Given the description of an element on the screen output the (x, y) to click on. 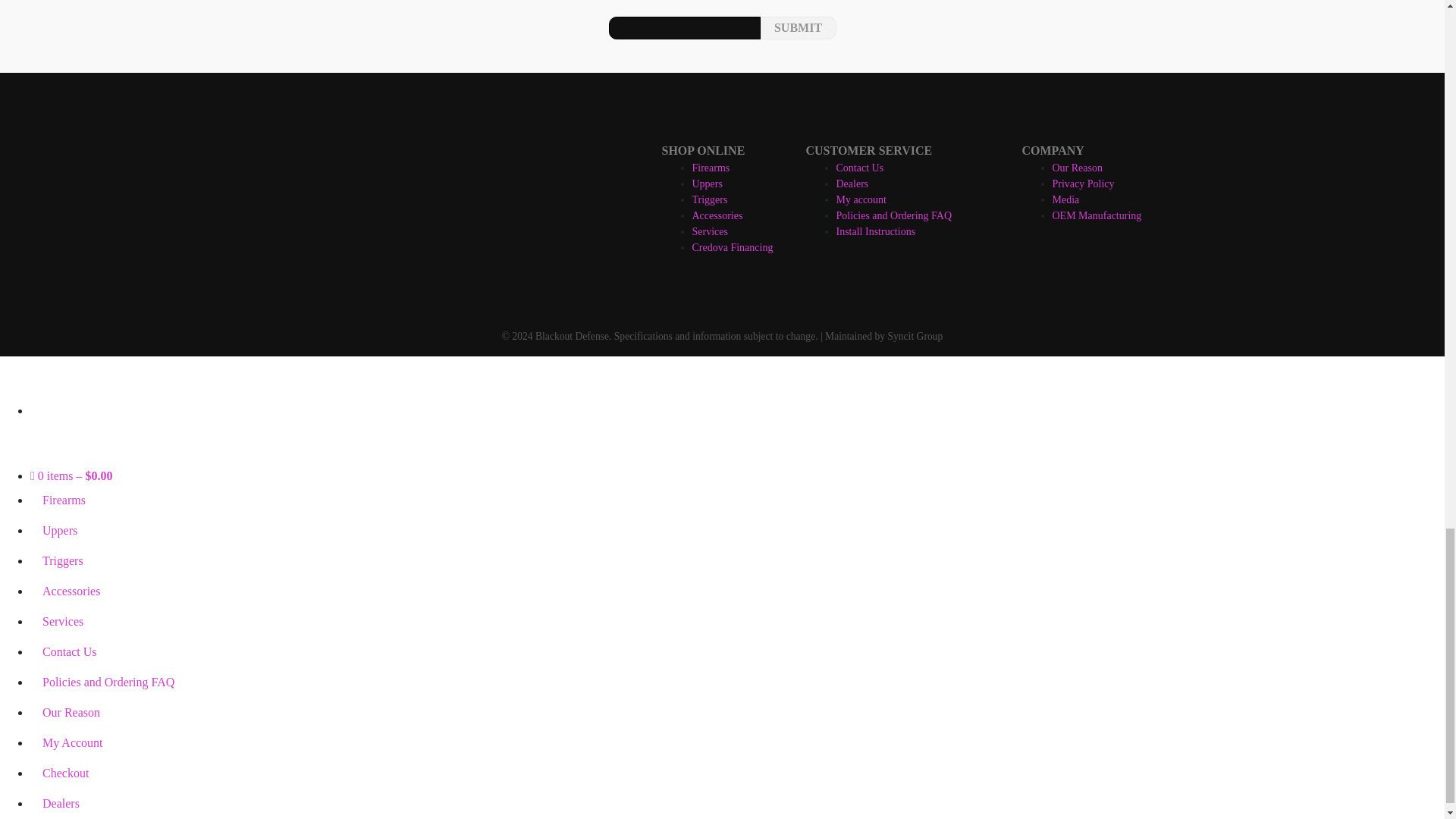
Triggers (708, 199)
Policies and Ordering FAQ (893, 215)
Dealers (851, 183)
Uppers (706, 183)
Accessories (716, 215)
Contact Us (859, 167)
SUBMIT (797, 27)
Services (708, 231)
My account (860, 199)
Credova Financing (732, 247)
